Given the description of an element on the screen output the (x, y) to click on. 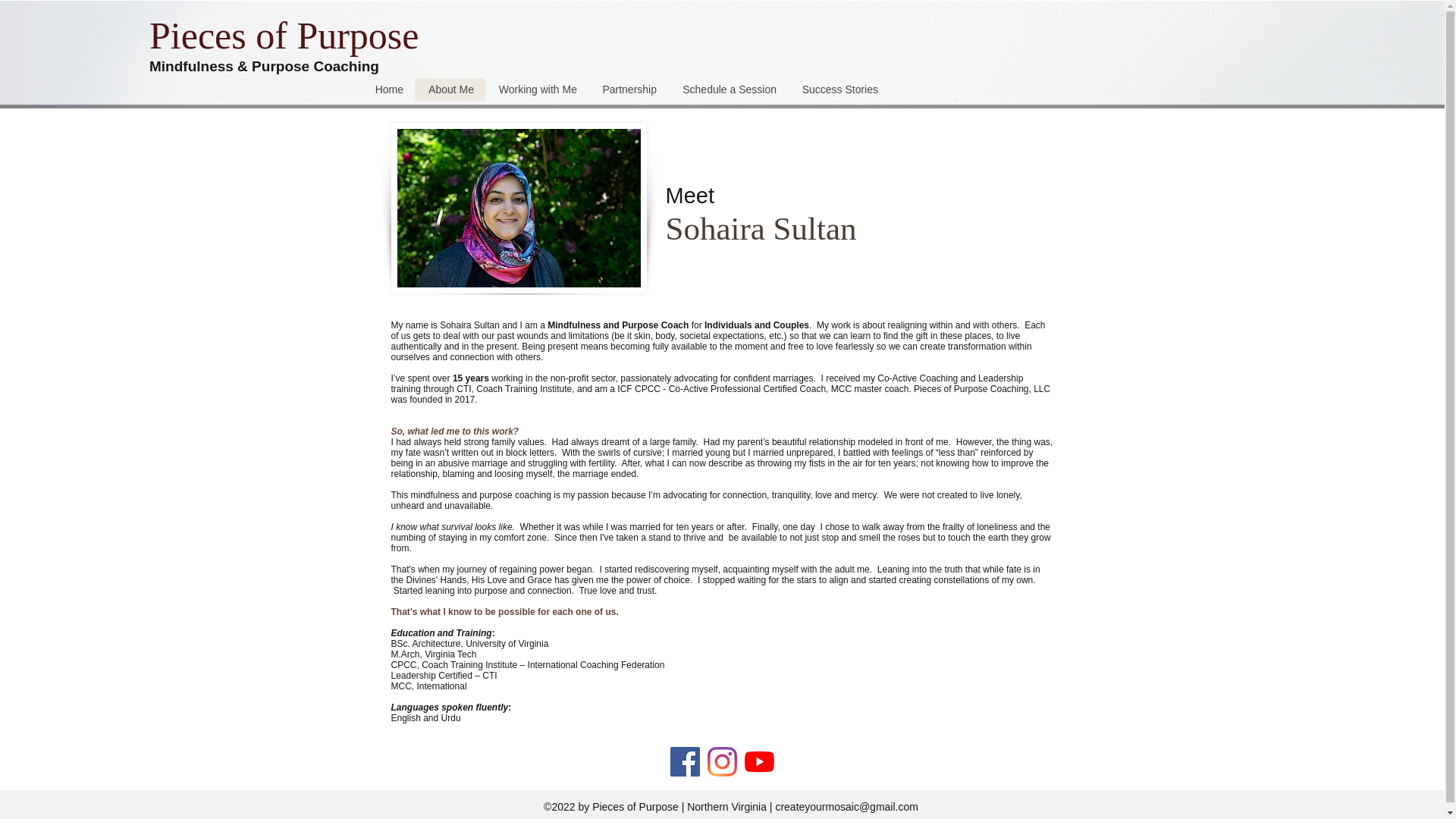
Partnership (628, 88)
Success Stories (838, 88)
Home (388, 88)
Schedule a Session (727, 88)
Pieces of Purpose  (288, 35)
About Me (449, 88)
Working with Me (536, 88)
